Given the description of an element on the screen output the (x, y) to click on. 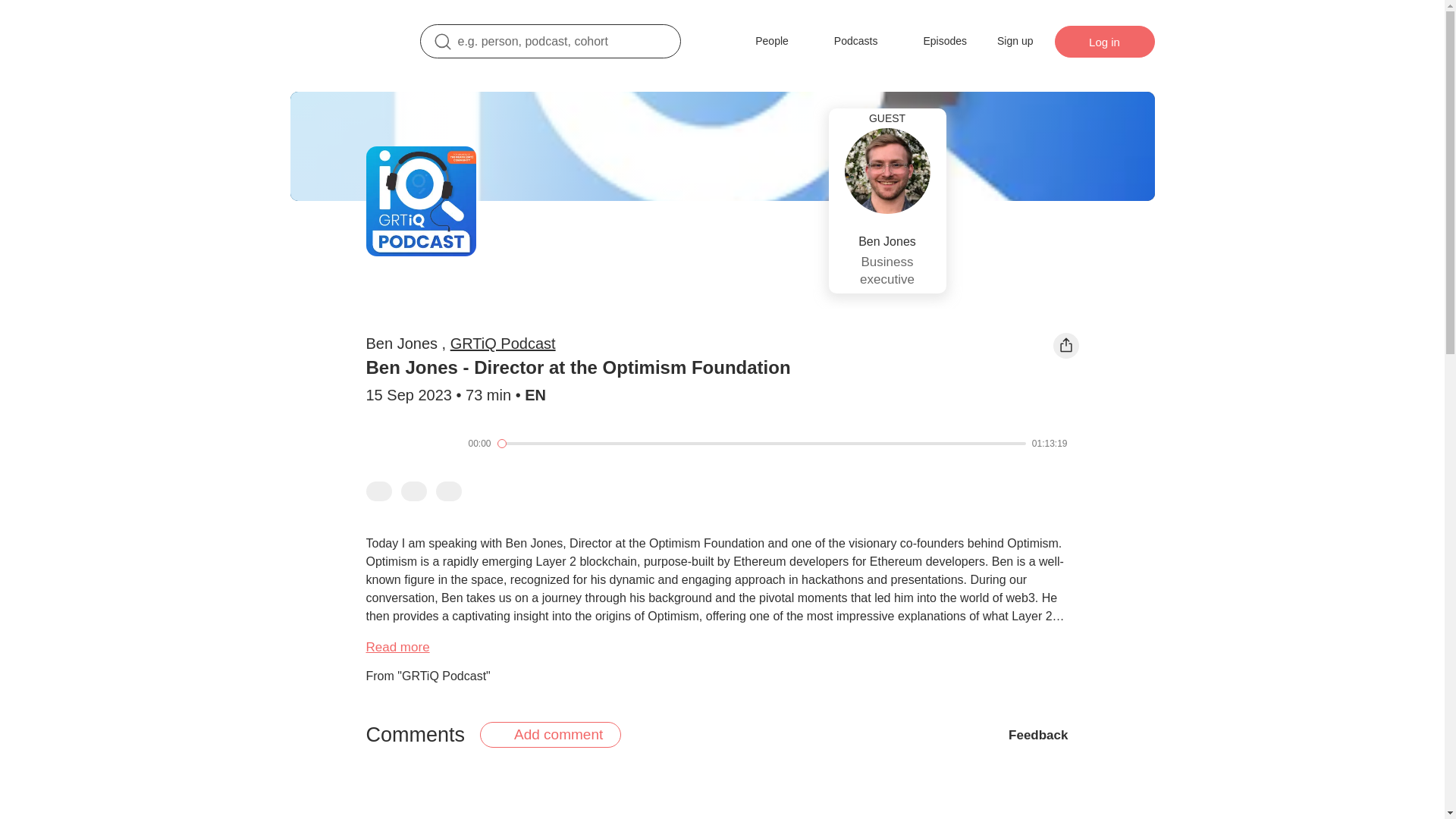
0 (761, 442)
Log in (1104, 41)
Episodes (933, 40)
Podcasts (844, 40)
Sign up (1014, 41)
Read more (397, 647)
Add comment (550, 734)
People (761, 40)
GRTiQ Podcast (502, 343)
